Given the description of an element on the screen output the (x, y) to click on. 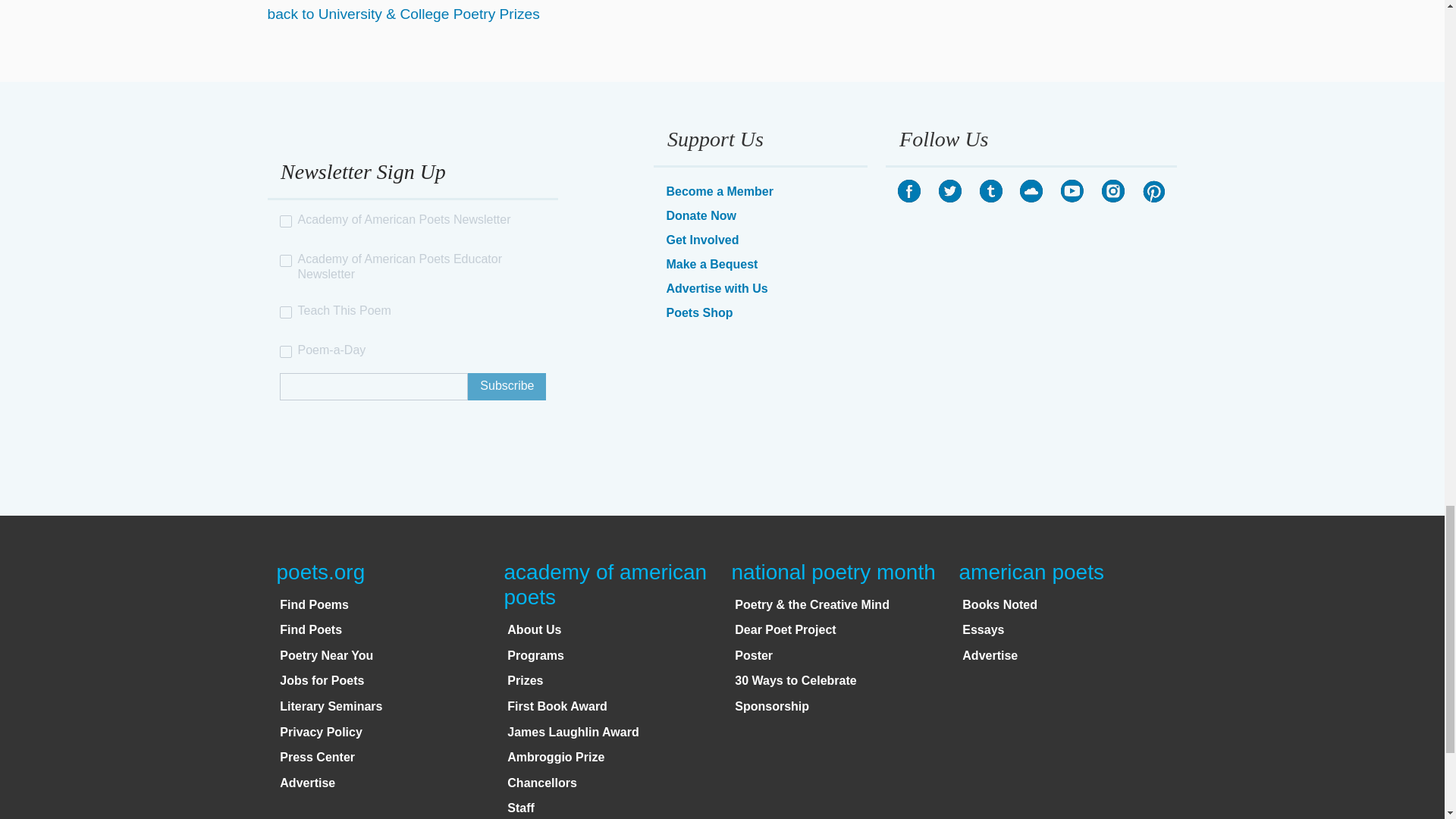
Literary Seminars (330, 706)
Facebook (909, 190)
Press Center (317, 757)
Get Involved (701, 239)
Poets Shop (698, 312)
YouTube (1072, 190)
Advertise with Us (716, 287)
Tumblr (991, 190)
Twitter (949, 190)
Make a Bequest (711, 264)
